Given the description of an element on the screen output the (x, y) to click on. 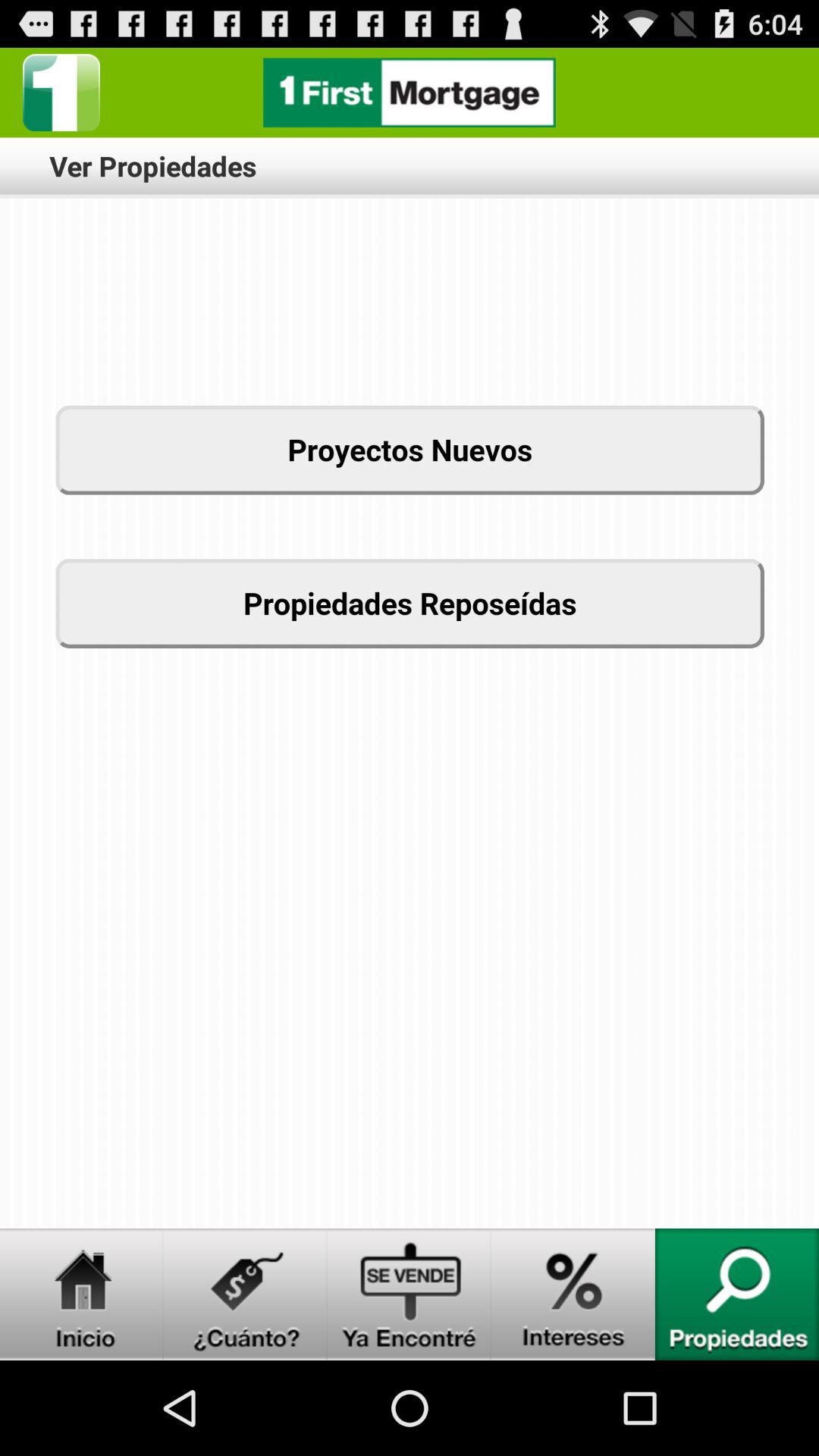
options (61, 92)
